Given the description of an element on the screen output the (x, y) to click on. 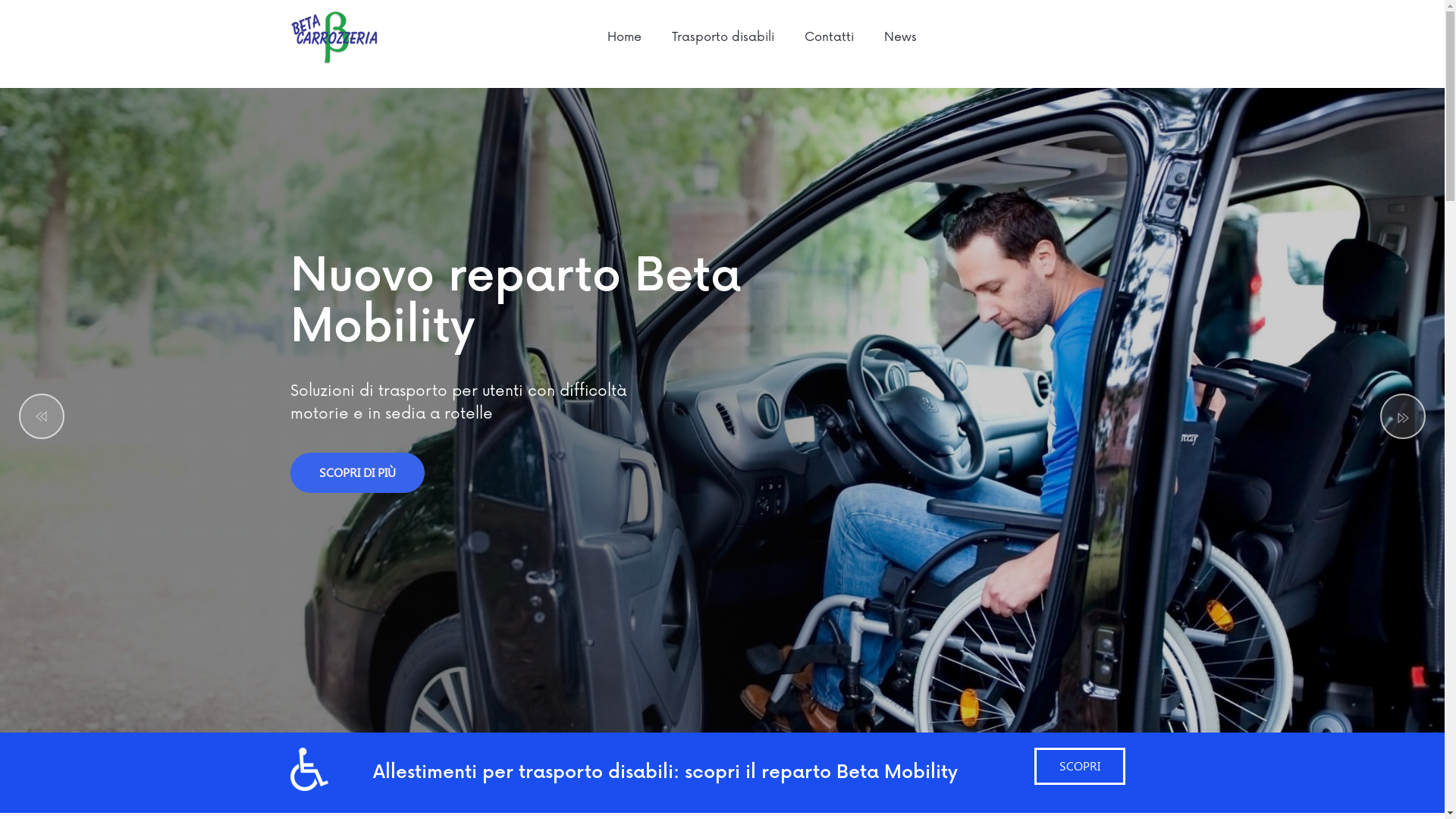
SCOPRI Element type: text (1079, 765)
Contatti Element type: text (829, 37)
Trasporto disabili Element type: text (722, 37)
Home Element type: text (624, 37)
News Element type: text (900, 37)
